Given the description of an element on the screen output the (x, y) to click on. 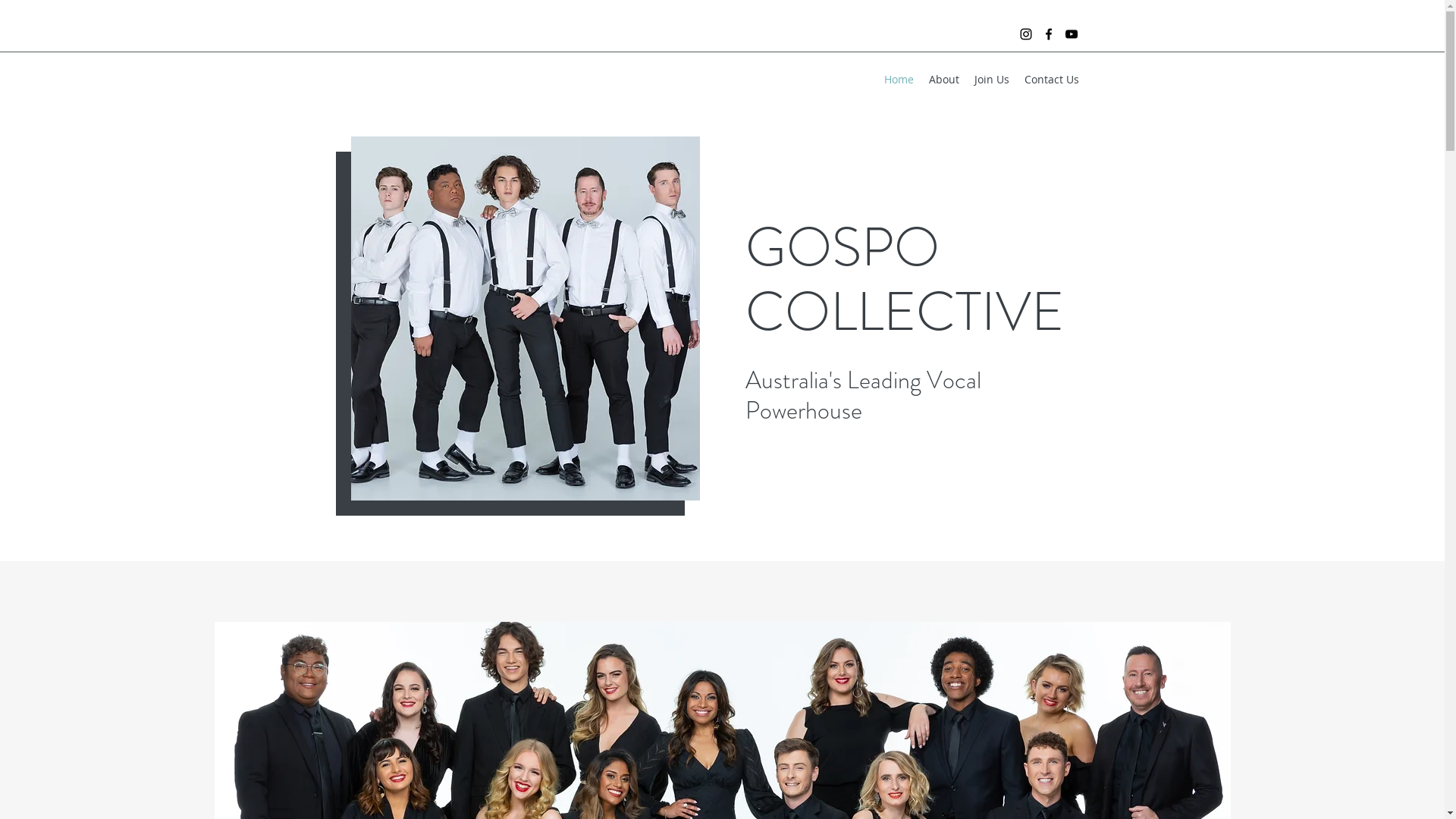
Contact Us Element type: text (1050, 79)
Join Us Element type: text (991, 79)
About Element type: text (943, 79)
Home Element type: text (898, 79)
